Given the description of an element on the screen output the (x, y) to click on. 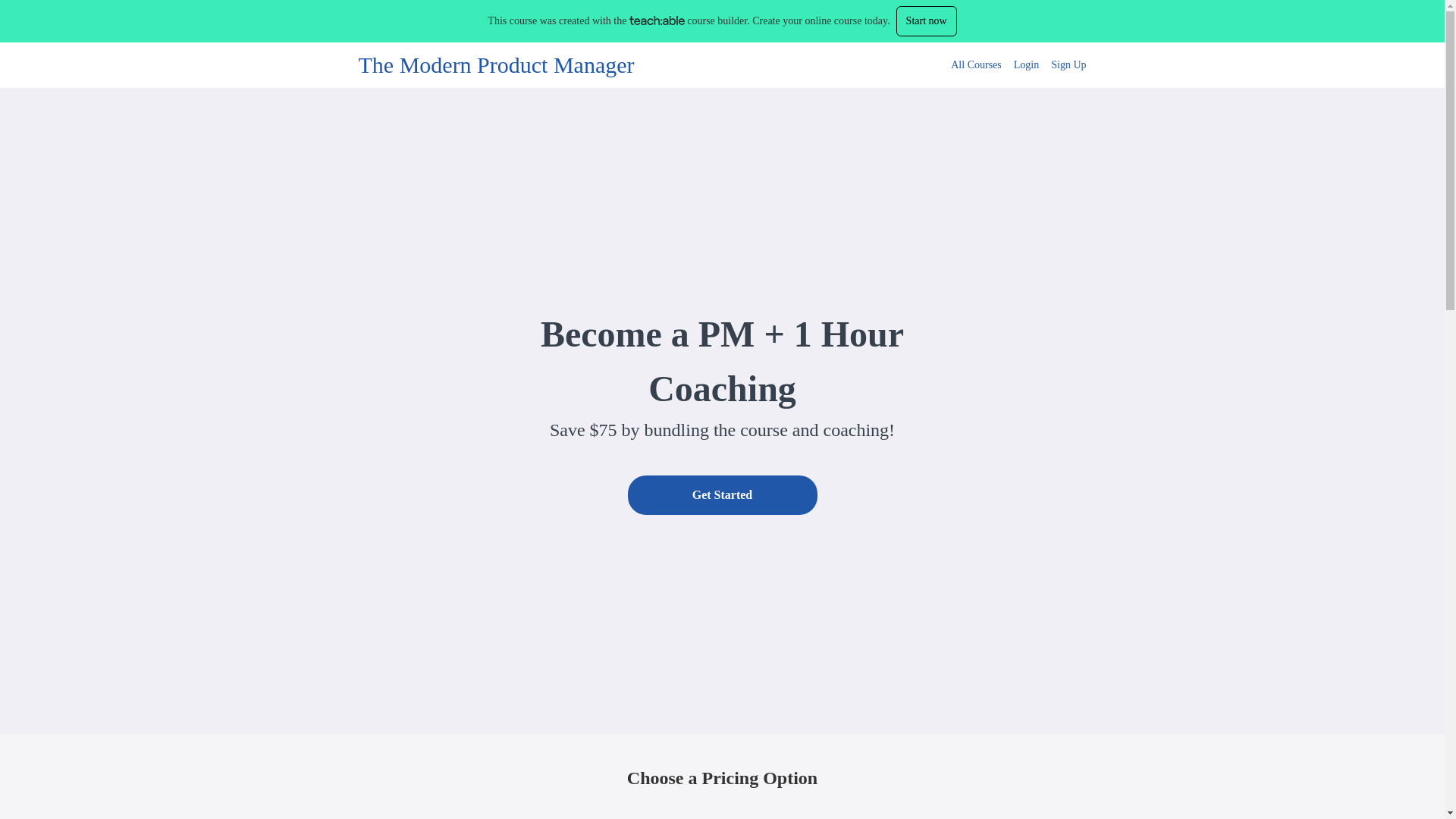
The Modern Product Manager (495, 65)
teachable.com (656, 19)
Start now (926, 20)
Get Started (721, 495)
All Courses (975, 64)
Sign Up (1068, 64)
Get Started (721, 496)
Login (1026, 64)
